Given the description of an element on the screen output the (x, y) to click on. 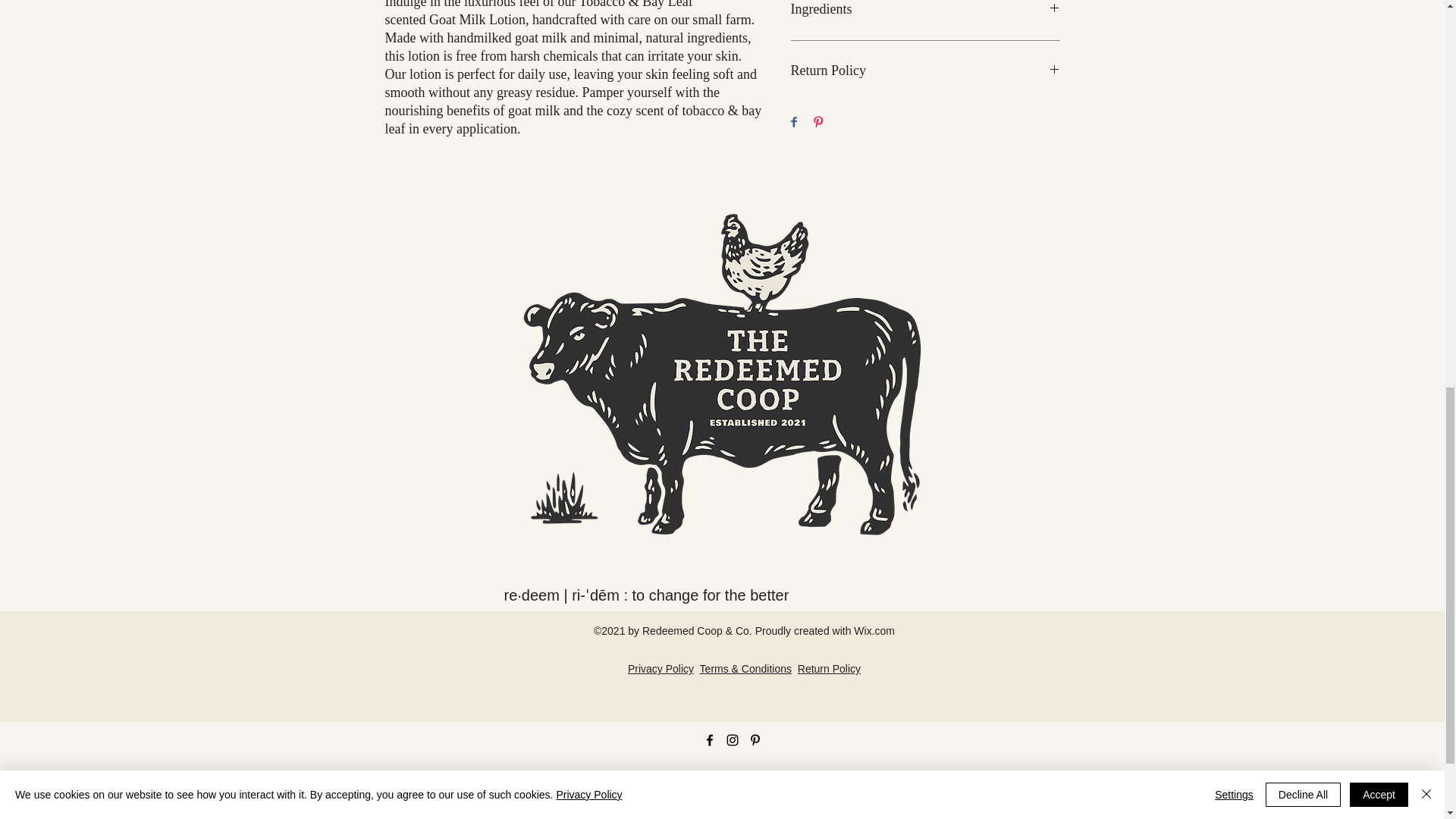
Return Policy (828, 668)
Return Policy (924, 70)
Privacy Policy (660, 668)
Ingredients (924, 11)
